Given the description of an element on the screen output the (x, y) to click on. 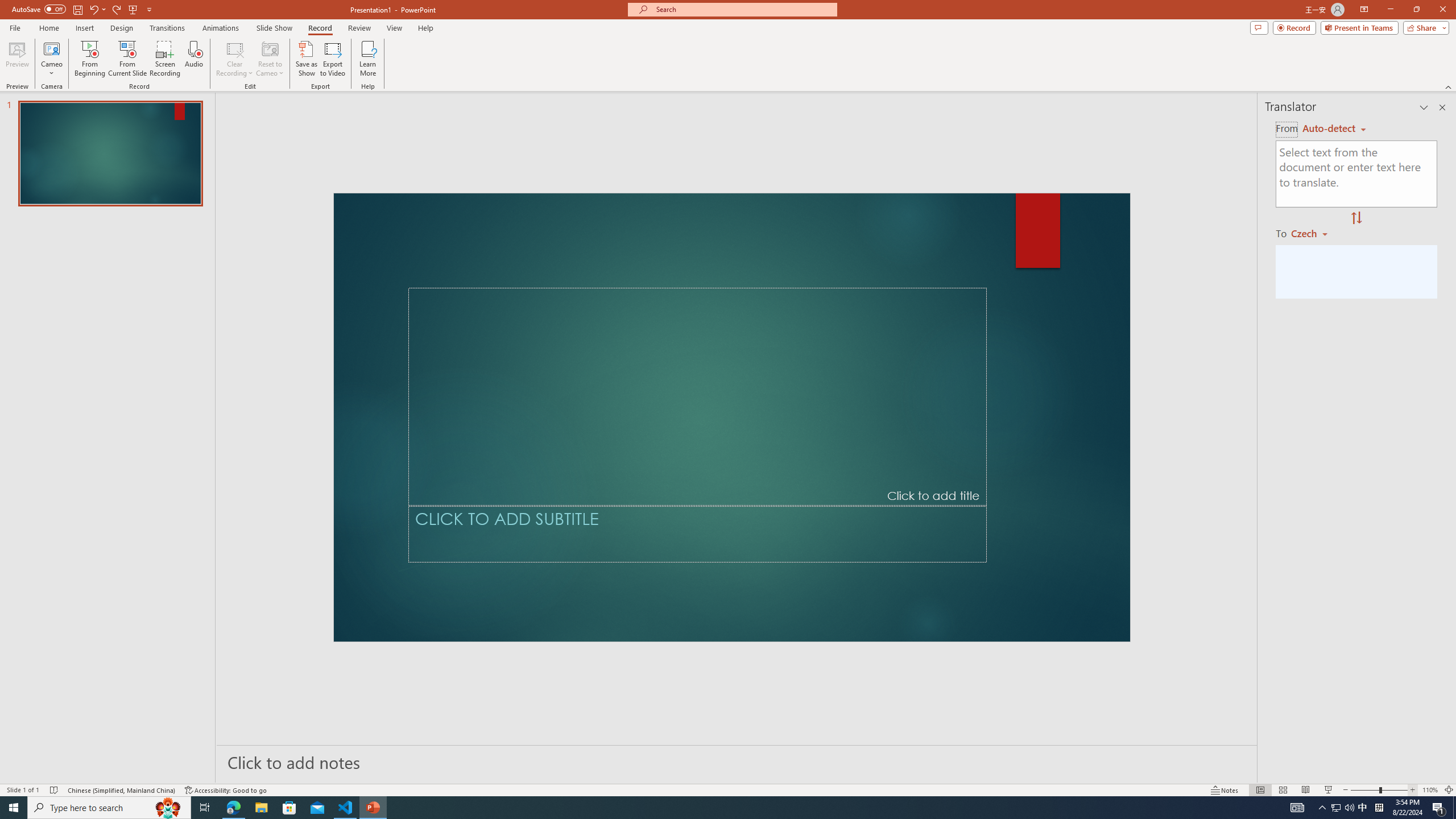
Spelling and Grammar Check No Errors (122, 773)
More Options (176, 18)
View (618, 47)
